Given the description of an element on the screen output the (x, y) to click on. 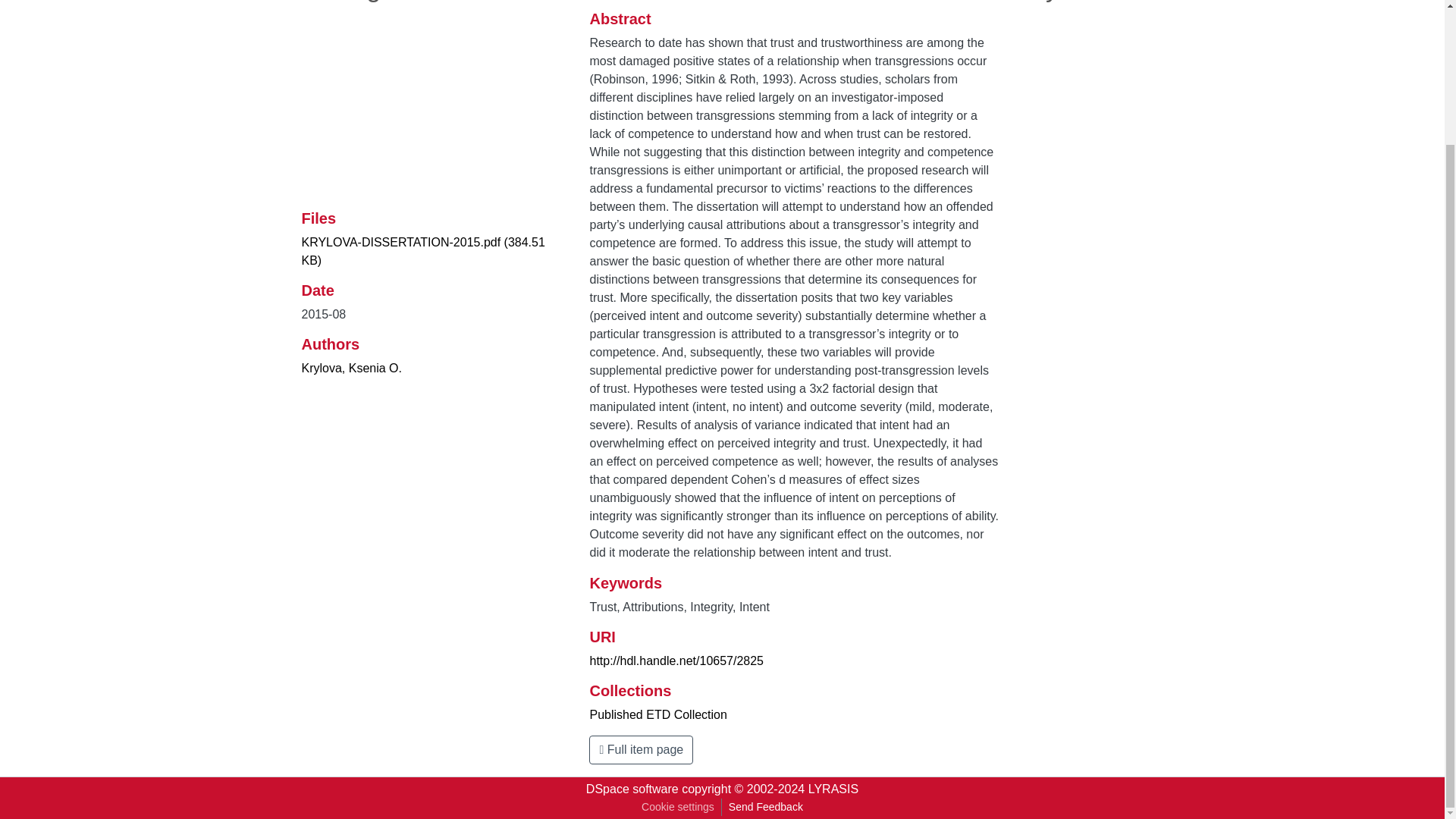
Full item page (641, 749)
Published ETD Collection (657, 714)
Cookie settings (677, 806)
LYRASIS (833, 788)
DSpace software (632, 788)
Send Feedback (765, 806)
Krylova, Ksenia O. (352, 367)
